Given the description of an element on the screen output the (x, y) to click on. 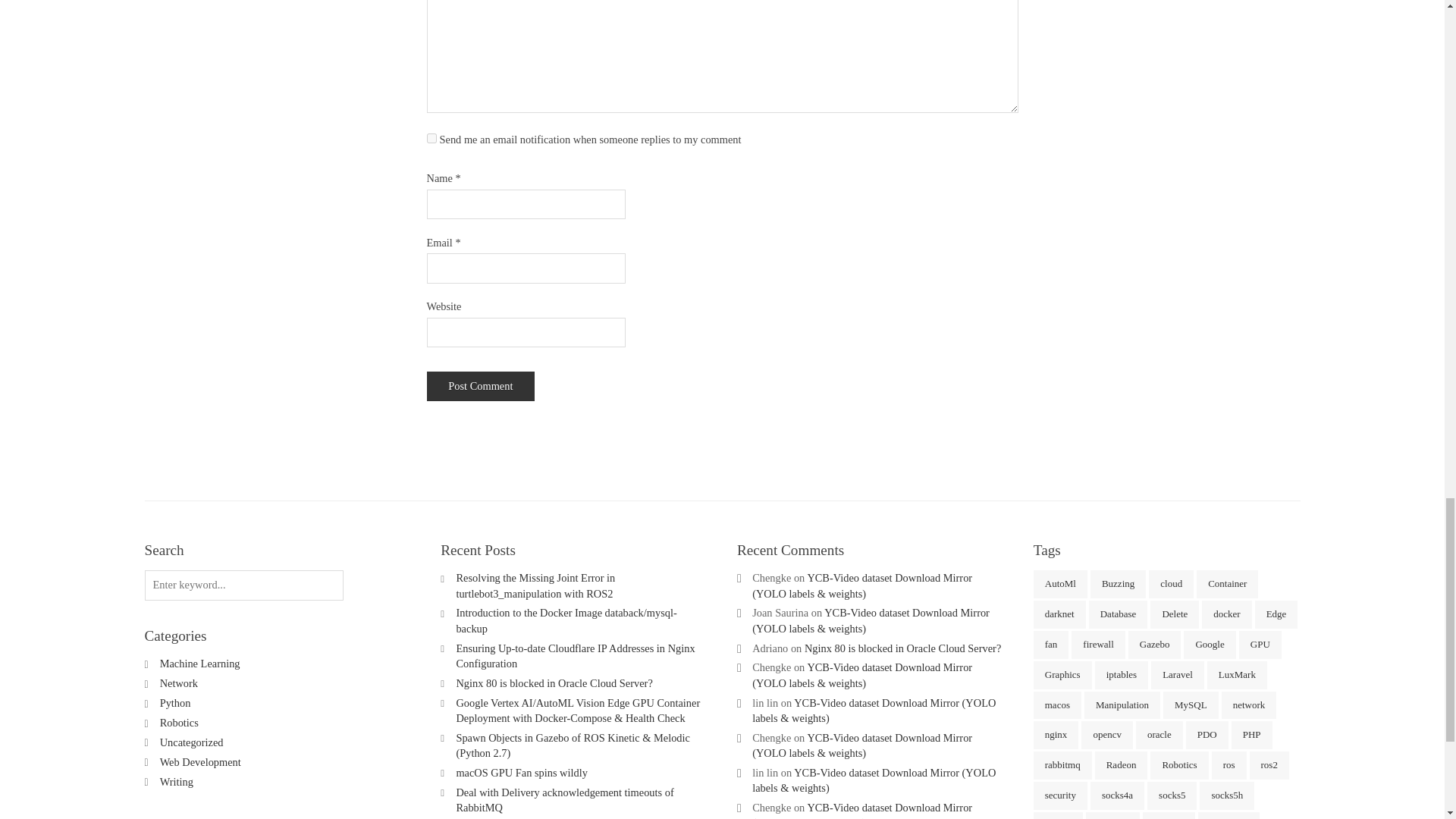
Web Development (200, 761)
Nginx 80 is blocked in Oracle Cloud Server? (903, 648)
Python (175, 702)
Nginx 80 is blocked in Oracle Cloud Server? (553, 683)
macOS GPU Fan spins wildly (521, 772)
Deal with Delivery acknowledgement timeouts of RabbitMQ (563, 800)
Robotics (179, 722)
Uncategorized (192, 742)
Network (179, 683)
Post Comment (480, 386)
Writing (176, 781)
1 (430, 138)
Machine Learning (200, 663)
Post Comment (480, 386)
